Given the description of an element on the screen output the (x, y) to click on. 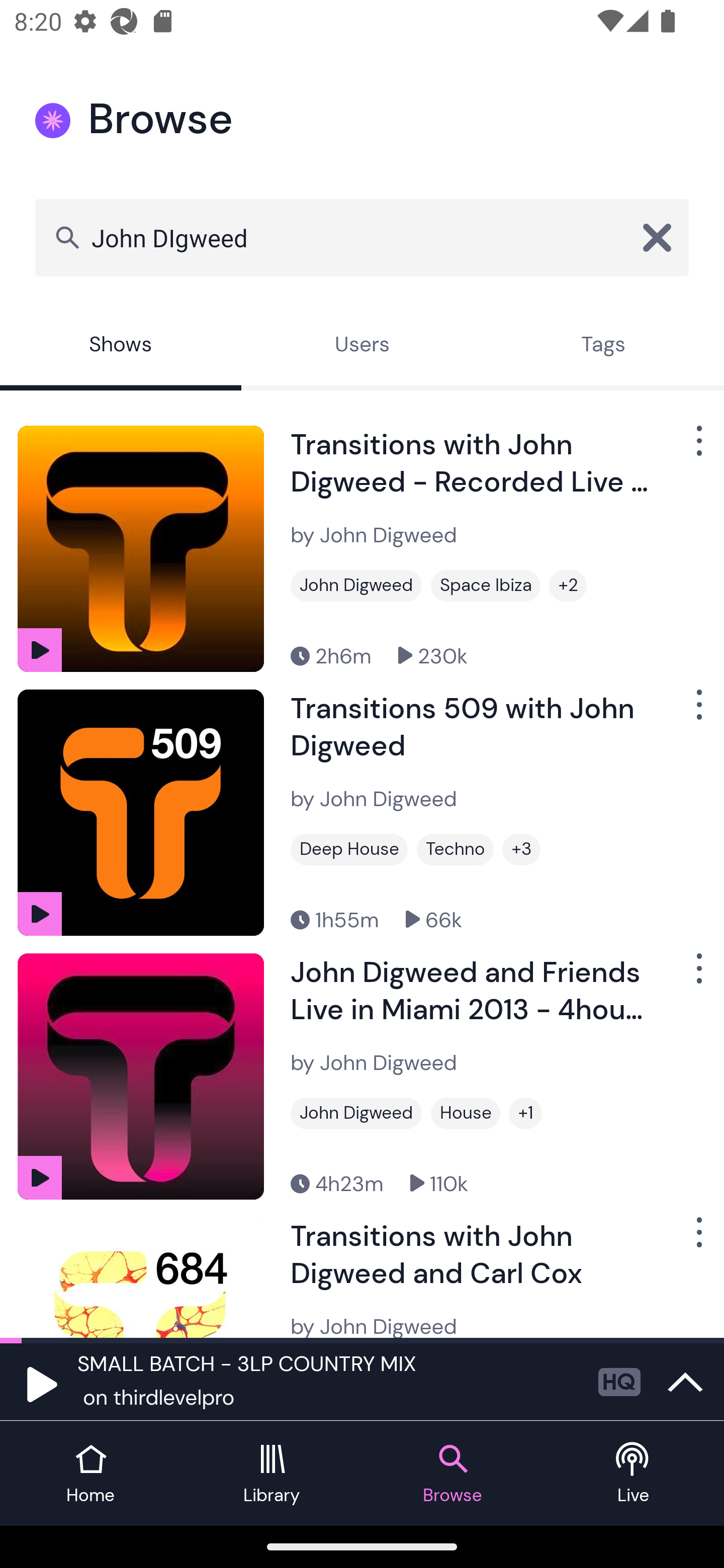
John DIgweed (361, 237)
Shows (120, 346)
Users (361, 346)
Tags (603, 346)
Show Options Menu Button (697, 447)
John Digweed (356, 585)
Space Ibiza (485, 585)
Show Options Menu Button (697, 712)
Deep House (348, 849)
Techno (455, 849)
Show Options Menu Button (697, 975)
John Digweed (356, 1112)
House (465, 1112)
Show Options Menu Button (697, 1239)
Home tab Home (90, 1473)
Library tab Library (271, 1473)
Browse tab Browse (452, 1473)
Live tab Live (633, 1473)
